Given the description of an element on the screen output the (x, y) to click on. 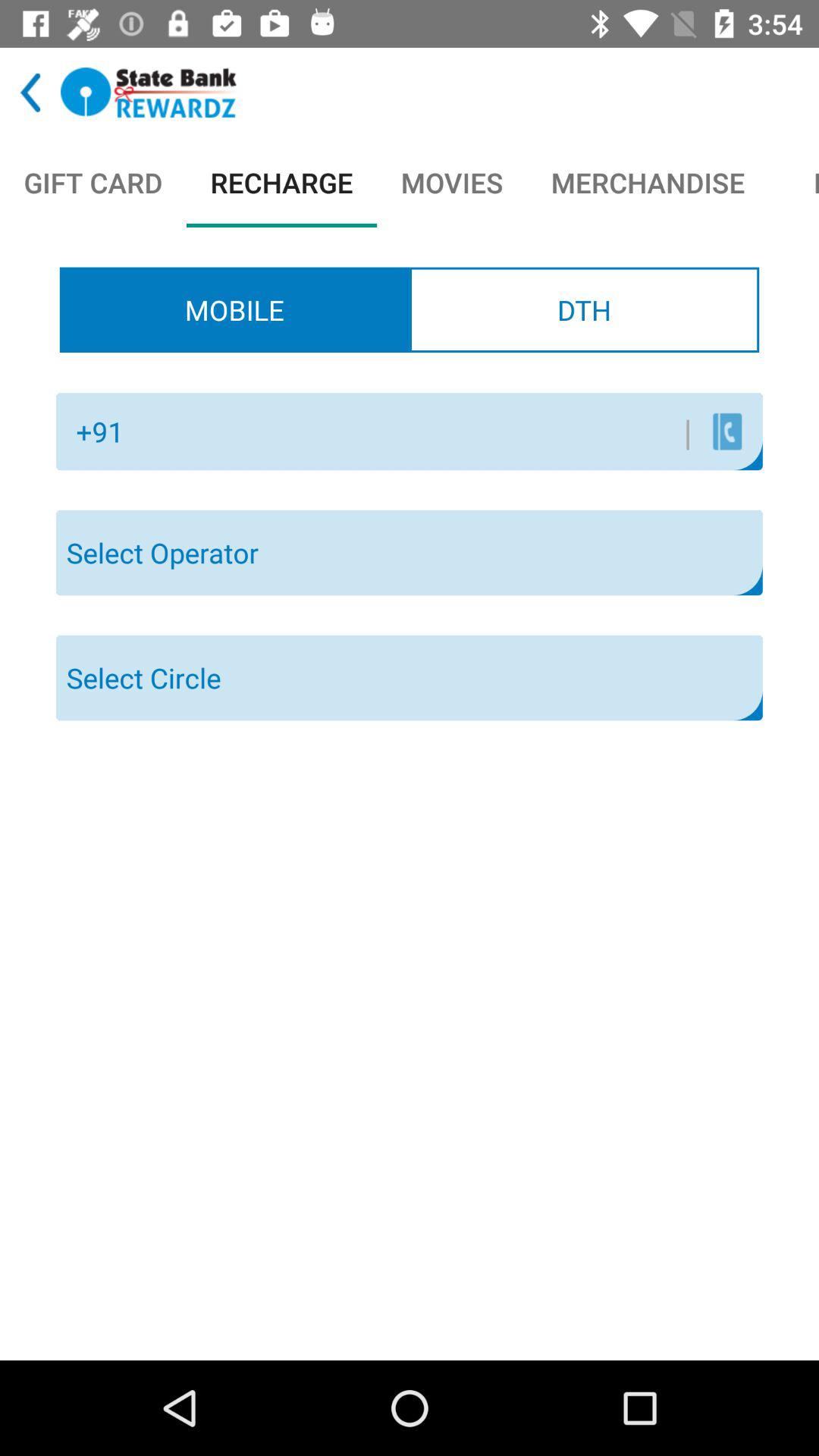
select the item below movies icon (584, 309)
